Given the description of an element on the screen output the (x, y) to click on. 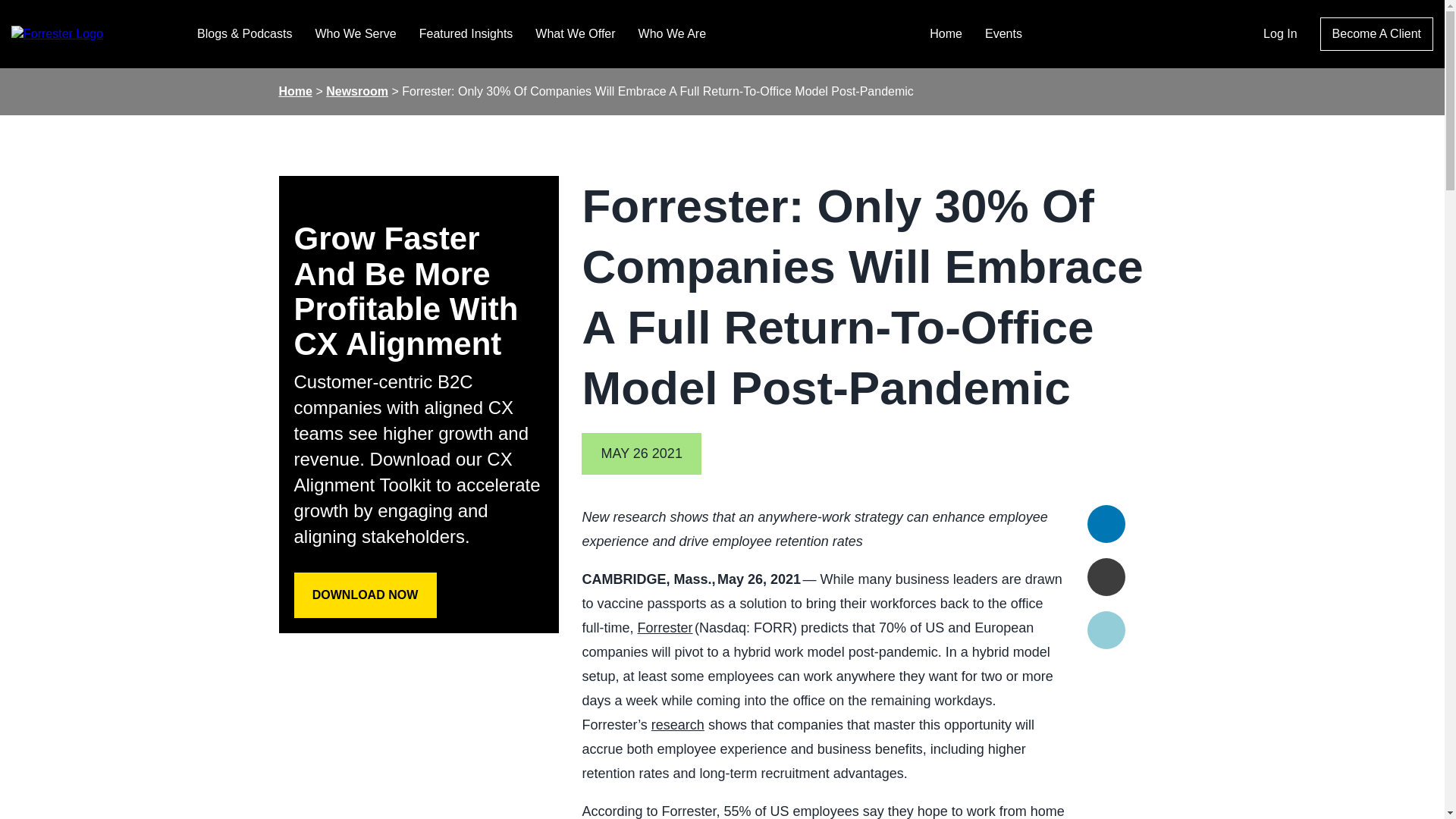
Who We Serve (355, 33)
What We Offer (574, 33)
Featured Insights (466, 33)
